Given the description of an element on the screen output the (x, y) to click on. 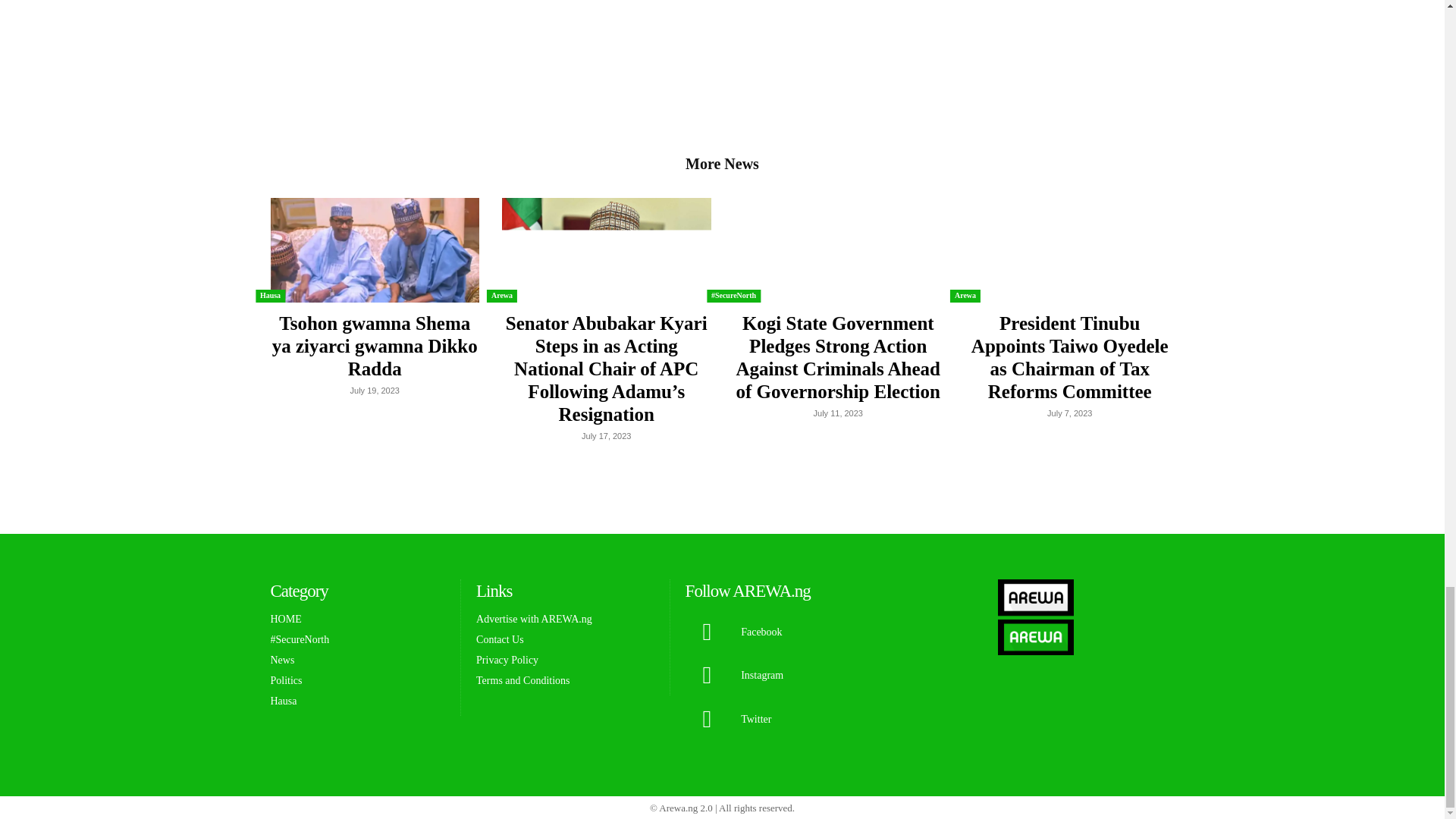
Arewa (501, 295)
Tsohon gwamna Shema ya ziyarci gwamna Dikko Radda (374, 250)
Tsohon gwamna Shema ya ziyarci gwamna Dikko Radda (374, 345)
Instagram (707, 675)
Facebook (707, 632)
Tsohon gwamna Shema ya ziyarci gwamna Dikko Radda (374, 345)
